Given the description of an element on the screen output the (x, y) to click on. 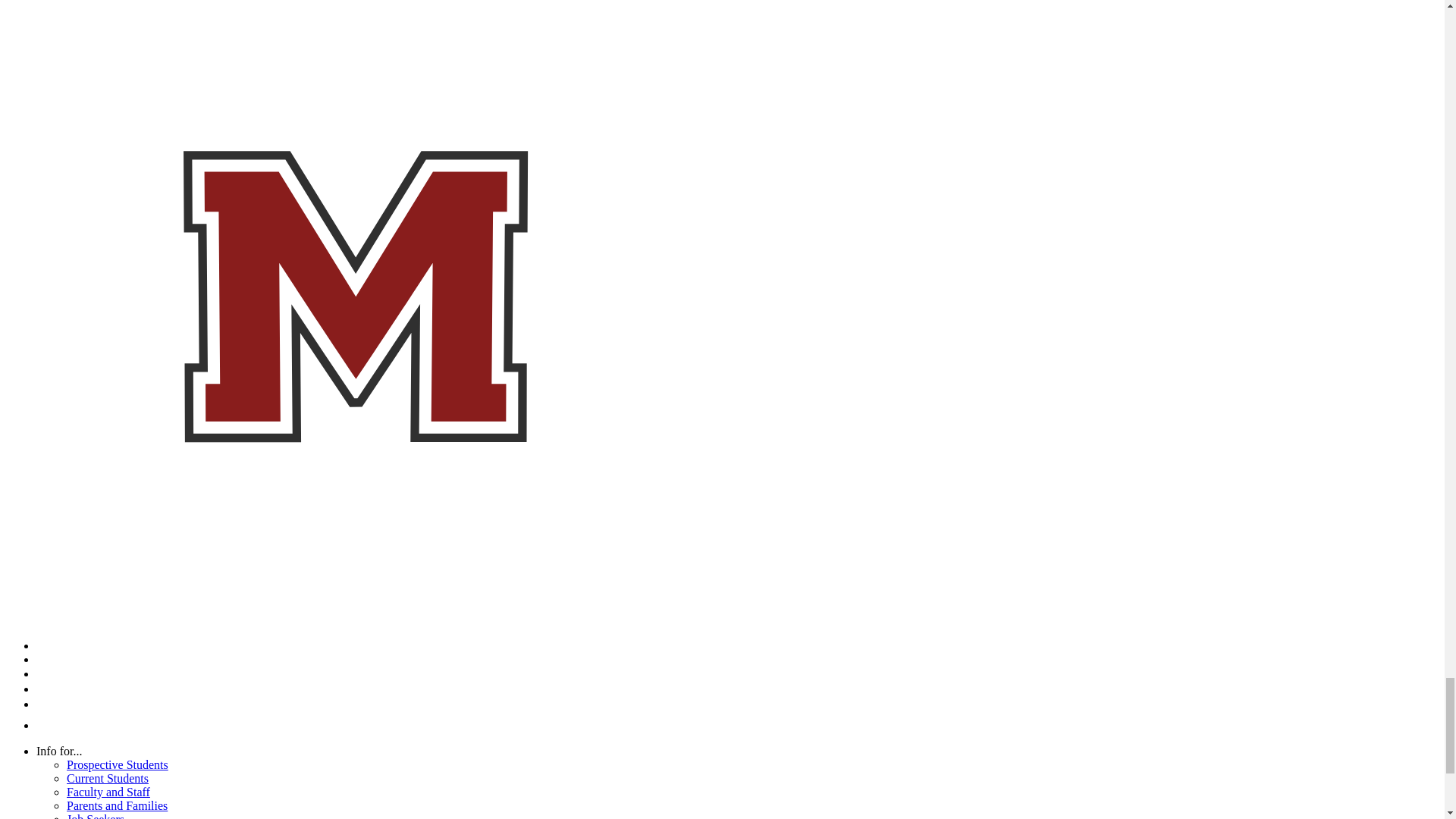
Info for Job Seekers (94, 816)
Click here for info for parents and families (116, 805)
Click here for info for faculty and staff (107, 791)
Click here for info for current students (107, 778)
